Given the description of an element on the screen output the (x, y) to click on. 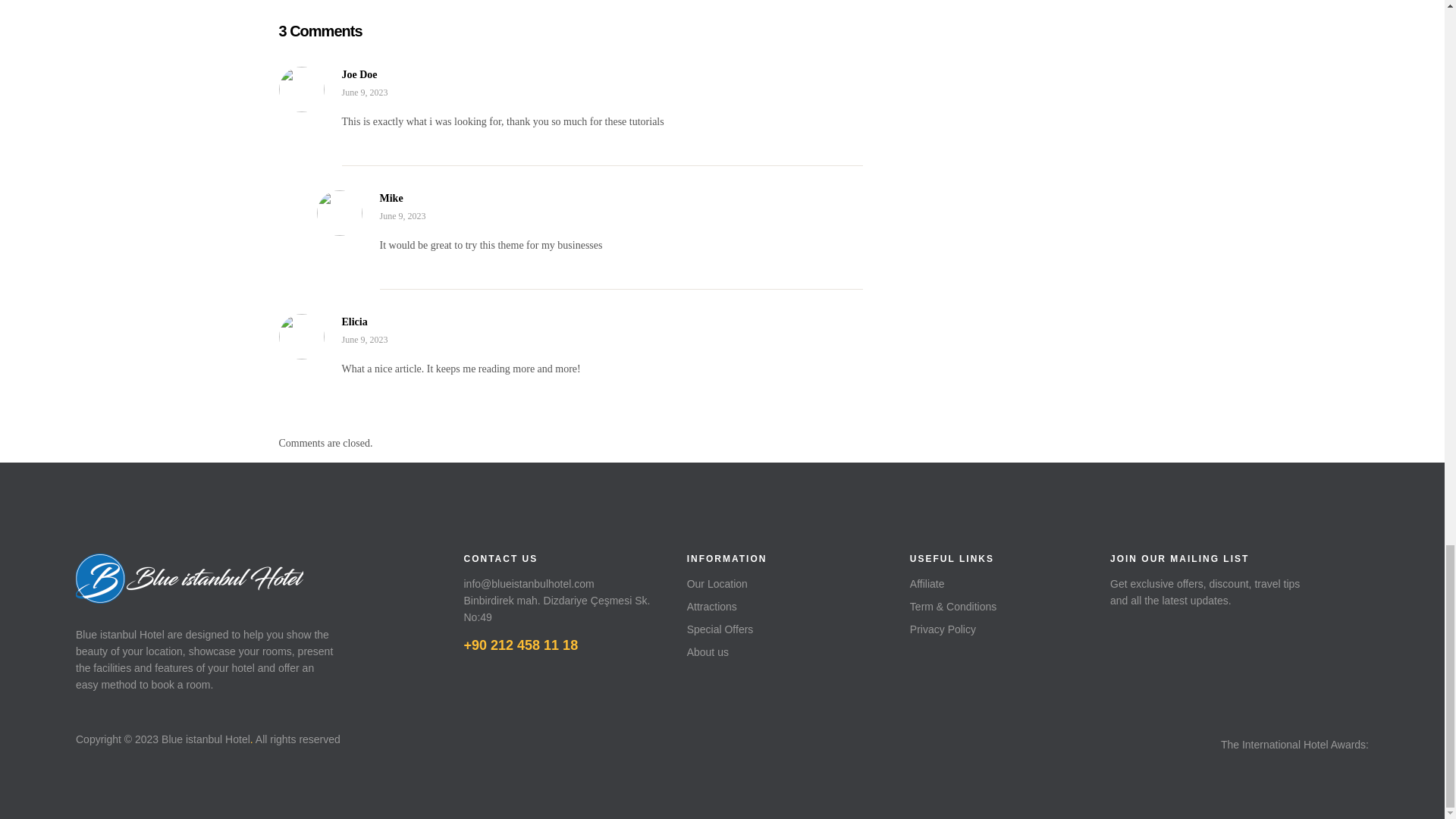
June 9, 2023 (532, 340)
June 9, 2023 (551, 216)
June 9, 2023 (532, 93)
